Given the description of an element on the screen output the (x, y) to click on. 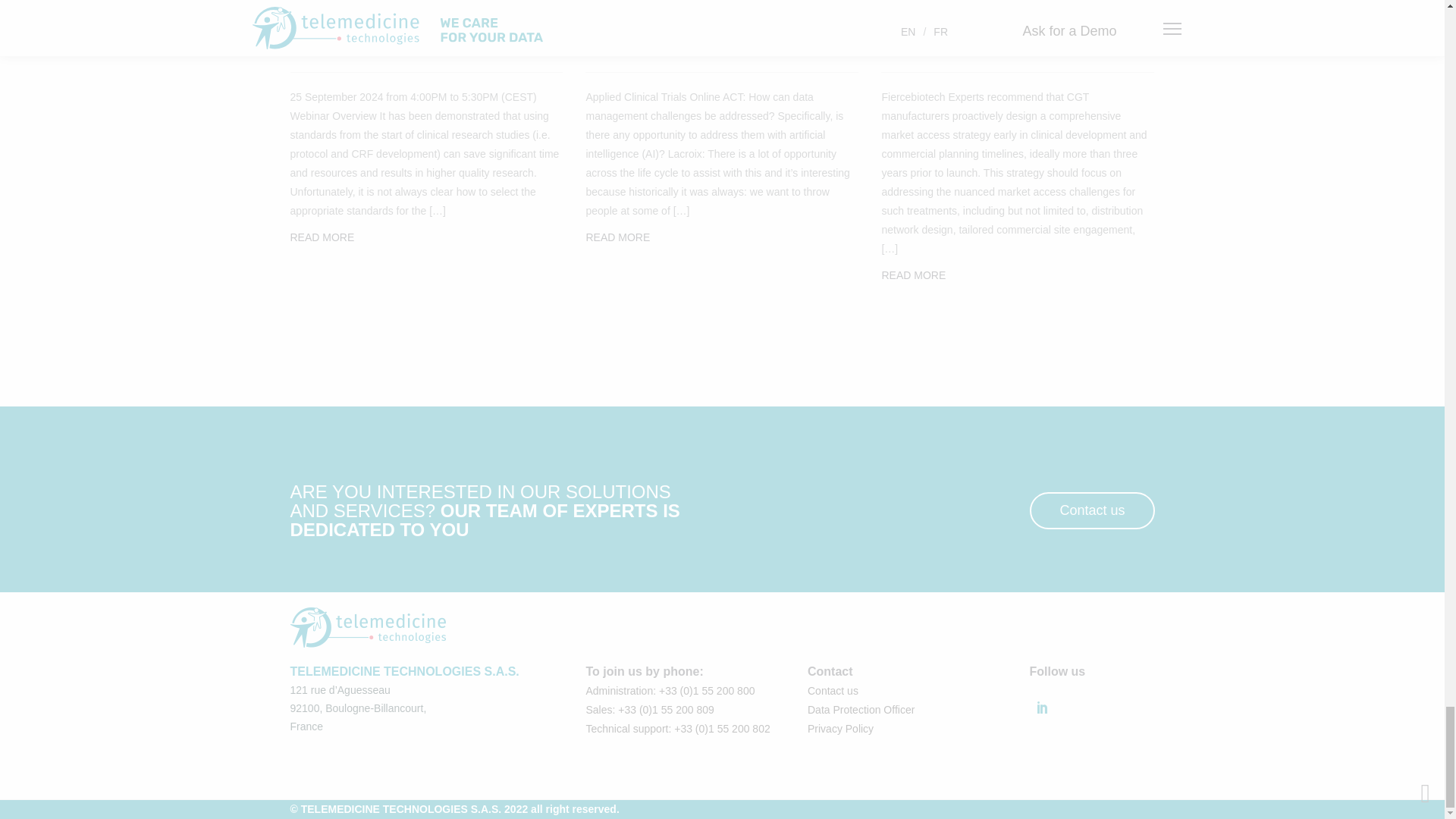
READ MORE (912, 275)
Addressing Data Management Challenges With Automation (721, 13)
Contact us (833, 690)
To join us by phone: (644, 671)
Contact us (1091, 510)
READ MORE (617, 236)
Privacy Policy (840, 728)
READ MORE (321, 236)
Contact (830, 671)
